Given the description of an element on the screen output the (x, y) to click on. 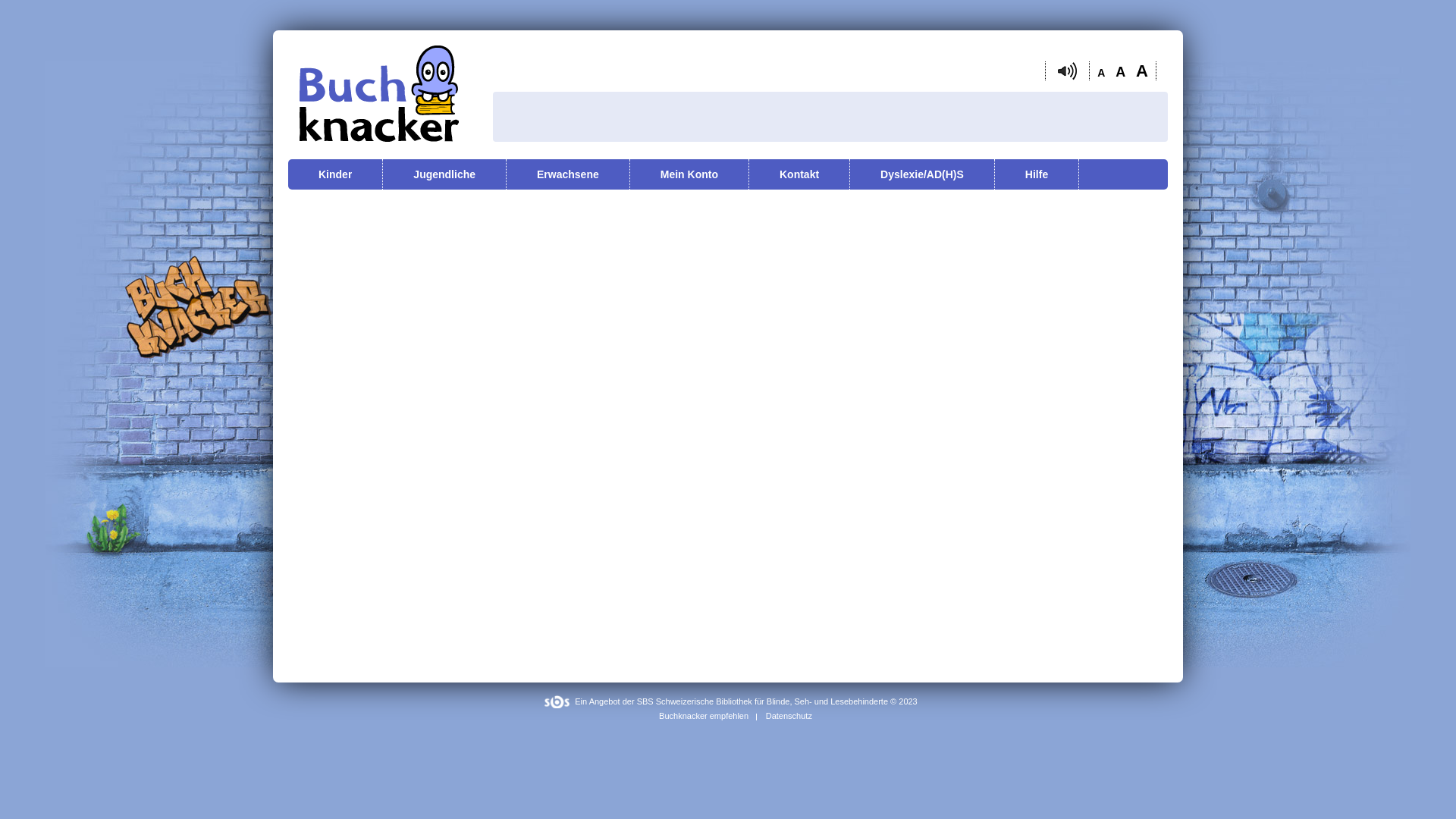
A Element type: text (1123, 71)
Jugendliche Element type: text (443, 174)
Dyslexie/A
D
(H
)S Element type: text (922, 174)
Kinder Element type: text (335, 174)
Mein Konto Element type: text (689, 174)
Datenschutz Element type: text (789, 715)
Vorlesen Element type: text (1066, 70)
A Element type: text (1145, 70)
A Element type: text (1100, 72)
Hilfe Element type: text (1036, 174)
Erwachsene Element type: text (567, 174)
Buchknacker empfehlen Element type: text (696, 715)
Kontakt Element type: text (799, 174)
